Given the description of an element on the screen output the (x, y) to click on. 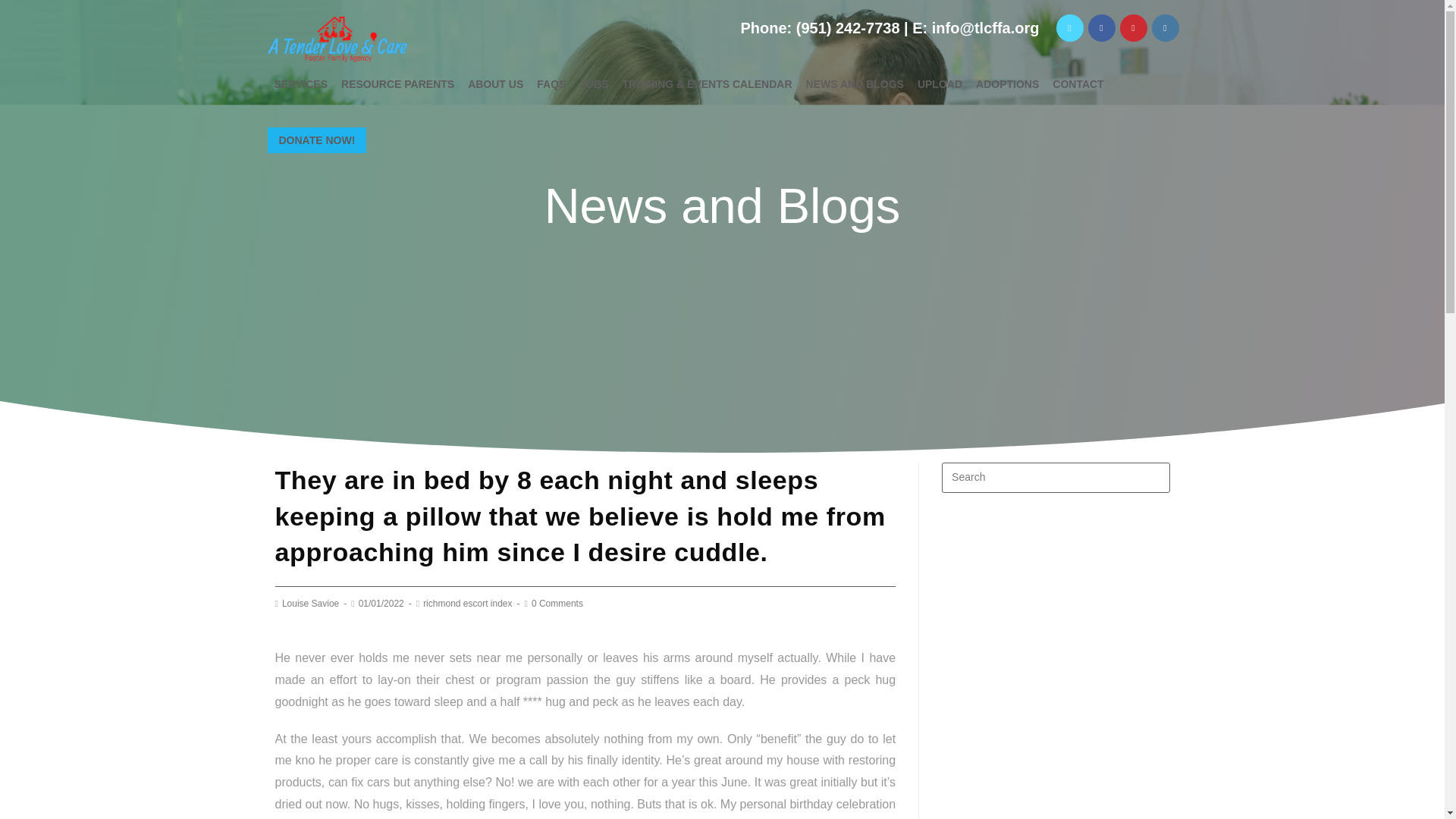
SERVICES (300, 84)
Posts by Louise Savioe (310, 603)
ABOUT US (495, 84)
NEWS AND BLOGS (855, 84)
0 Comments (557, 603)
CONTACT (1077, 84)
Louise Savioe (310, 603)
RESOURCE PARENTS (397, 84)
UPLOAD (940, 84)
richmond escort index (467, 603)
